Given the description of an element on the screen output the (x, y) to click on. 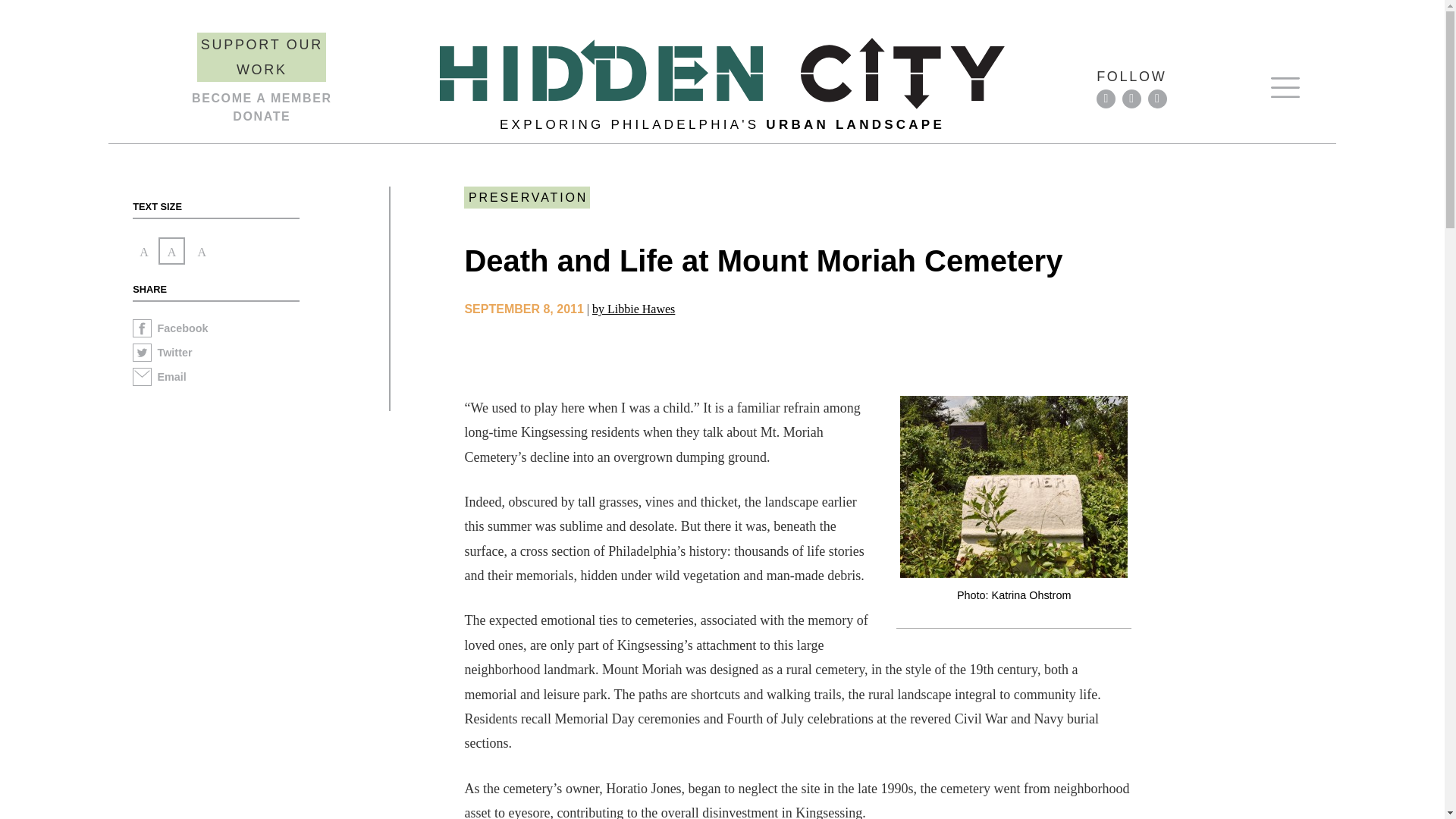
PRESERVATION (526, 197)
DONATE (260, 115)
BECOME A MEMBER (261, 97)
Email (260, 379)
SEPTEMBER 8, 2011 (523, 308)
Facebook (260, 331)
A (172, 250)
Twitter (260, 355)
by Libbie Hawes (633, 308)
A (143, 251)
Mt. Moriah Cemetery (1012, 486)
A (201, 249)
